Given the description of an element on the screen output the (x, y) to click on. 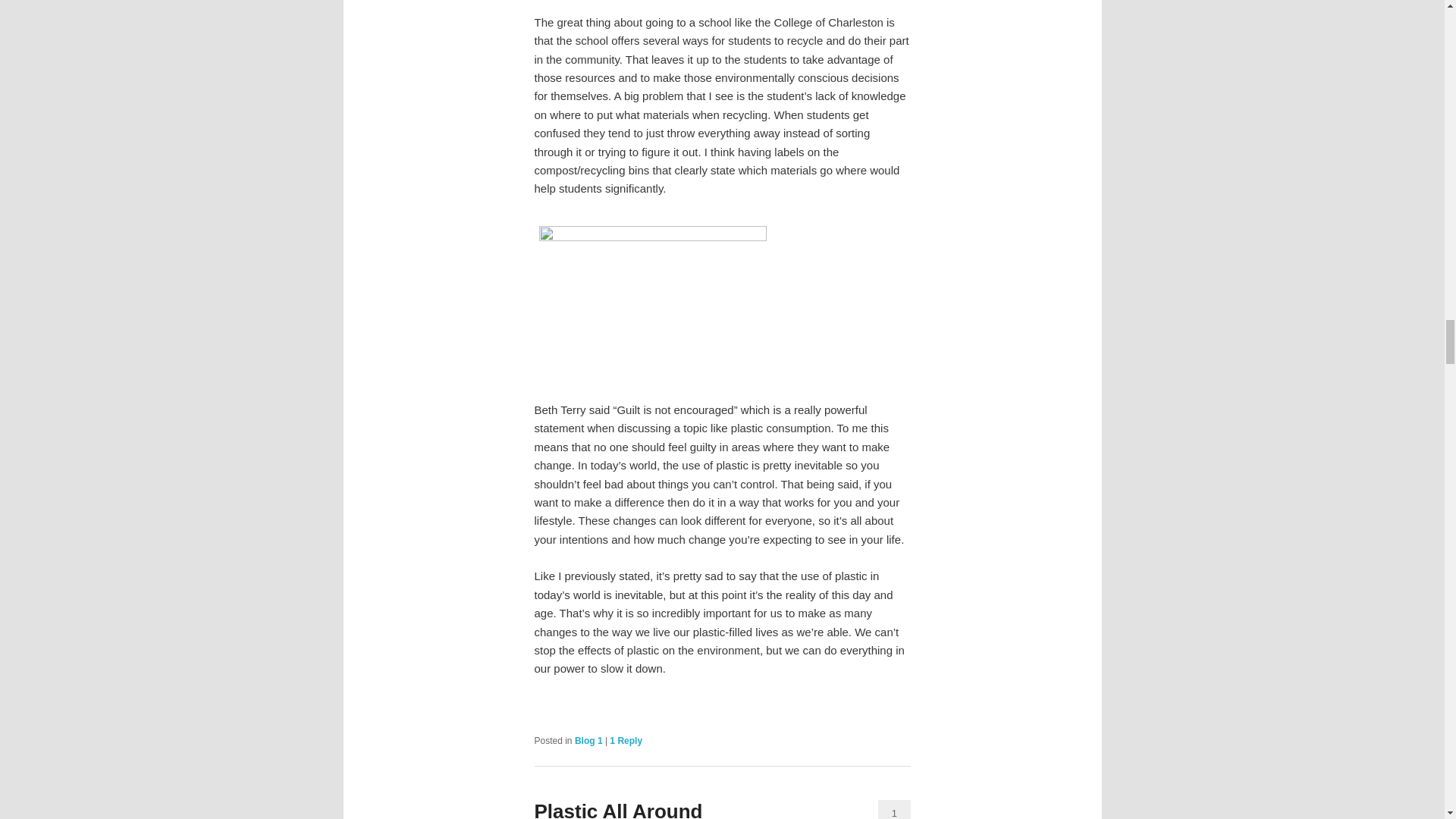
Blog 1 (588, 740)
Permalink to Plastic All Around (617, 809)
1 Reply (626, 740)
Plastic All Around (617, 809)
